Given the description of an element on the screen output the (x, y) to click on. 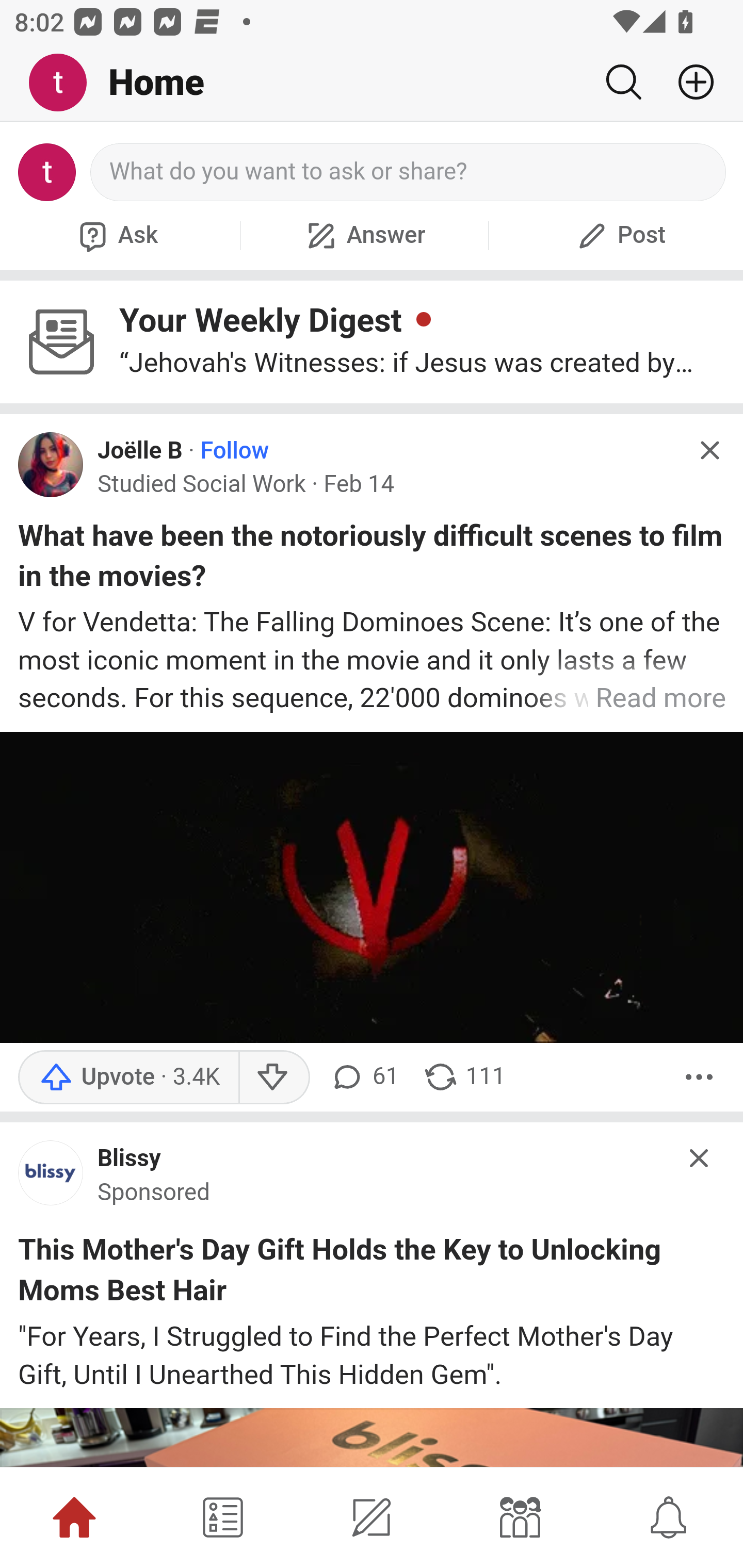
Me Home Search Add (371, 82)
Me (64, 83)
Search (623, 82)
Add (688, 82)
